Given the description of an element on the screen output the (x, y) to click on. 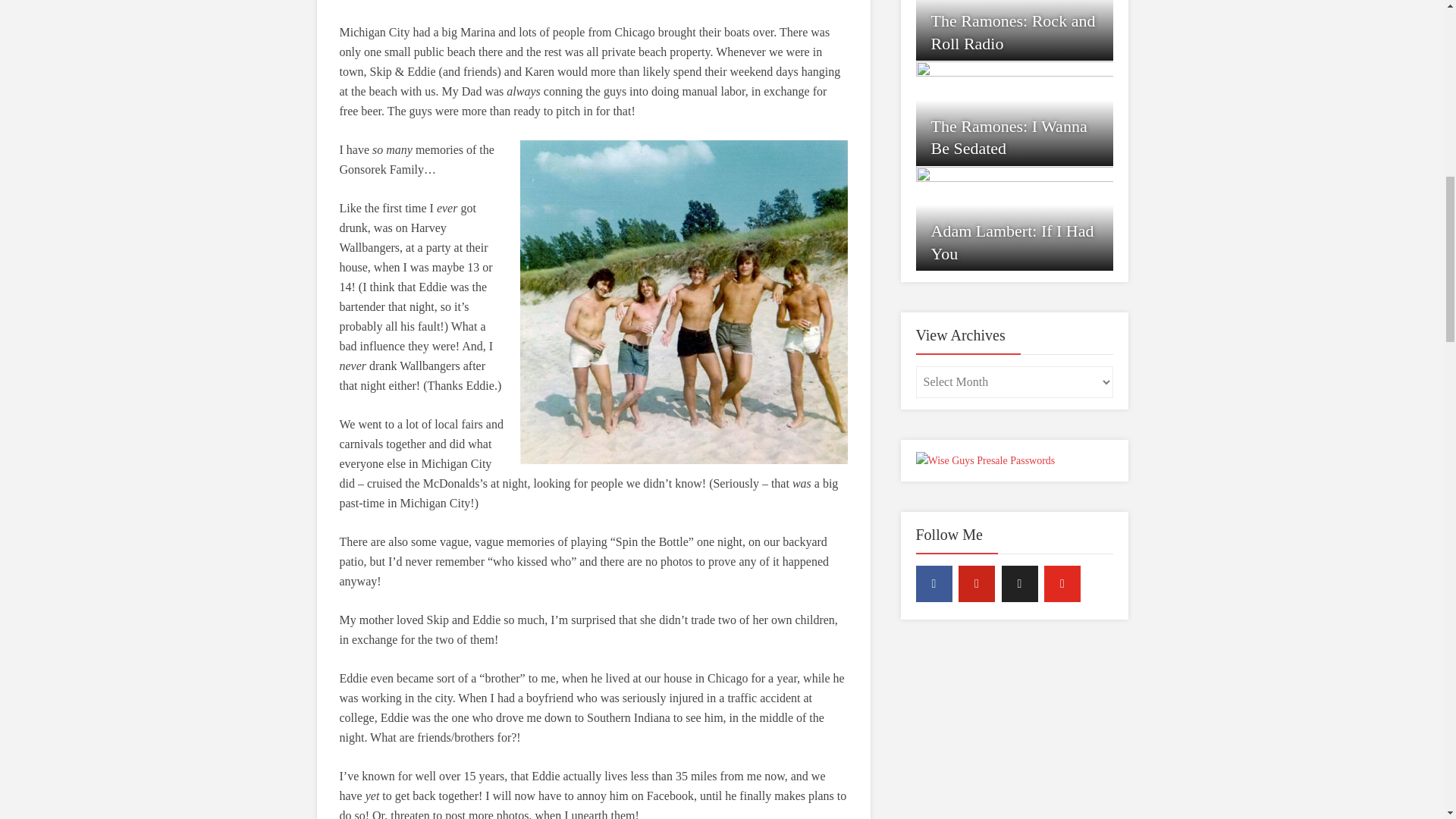
Pinterest (976, 583)
Facebook (933, 583)
